Given the description of an element on the screen output the (x, y) to click on. 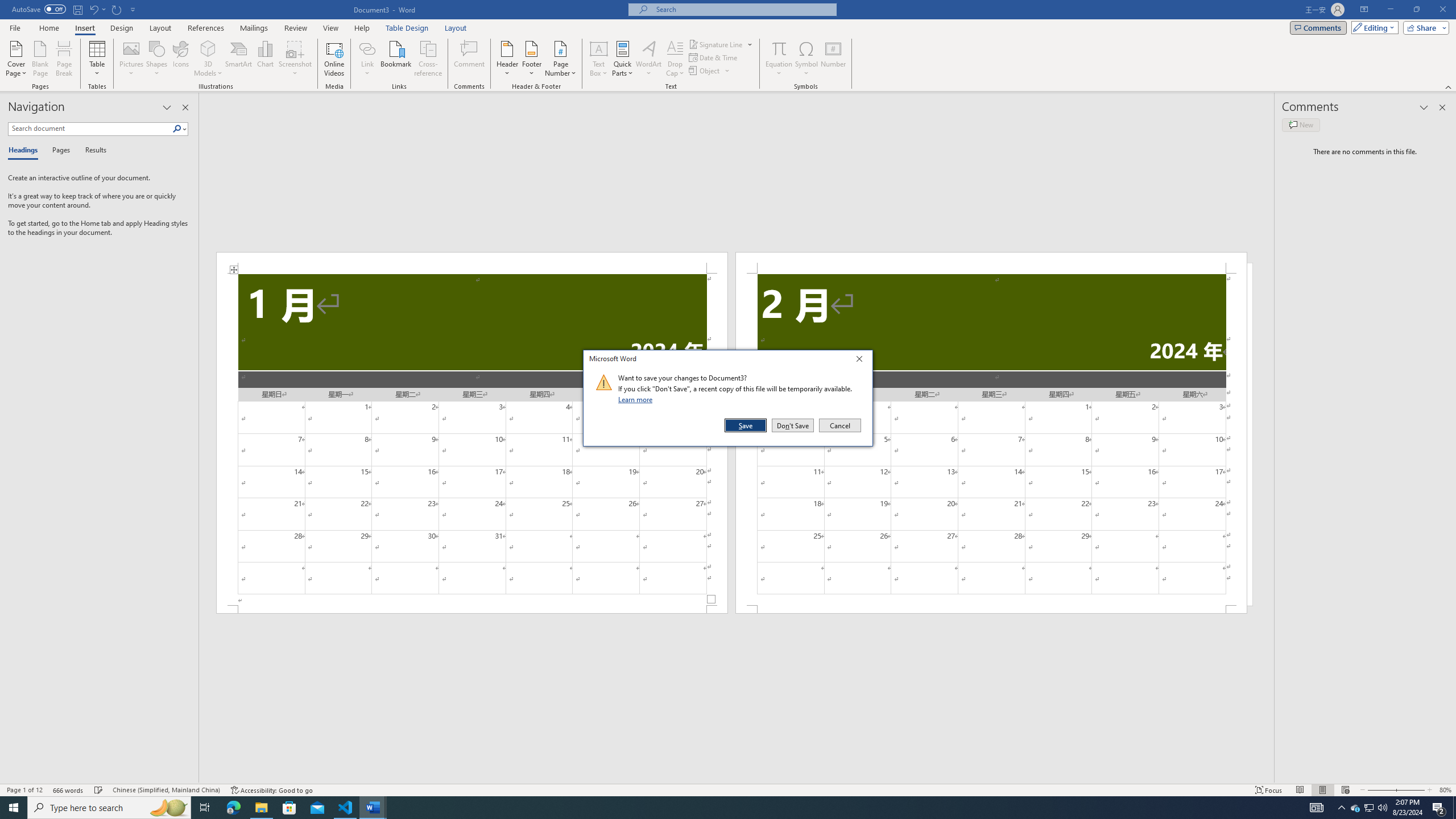
Drop Cap (674, 58)
Microsoft Edge (233, 807)
Running applications (717, 807)
Table (97, 58)
Repeat Doc Close (117, 9)
Microsoft Store (289, 807)
Learn more (636, 399)
Footer -Section 2- (991, 609)
Footer (531, 58)
Header (507, 58)
Link (367, 48)
